Given the description of an element on the screen output the (x, y) to click on. 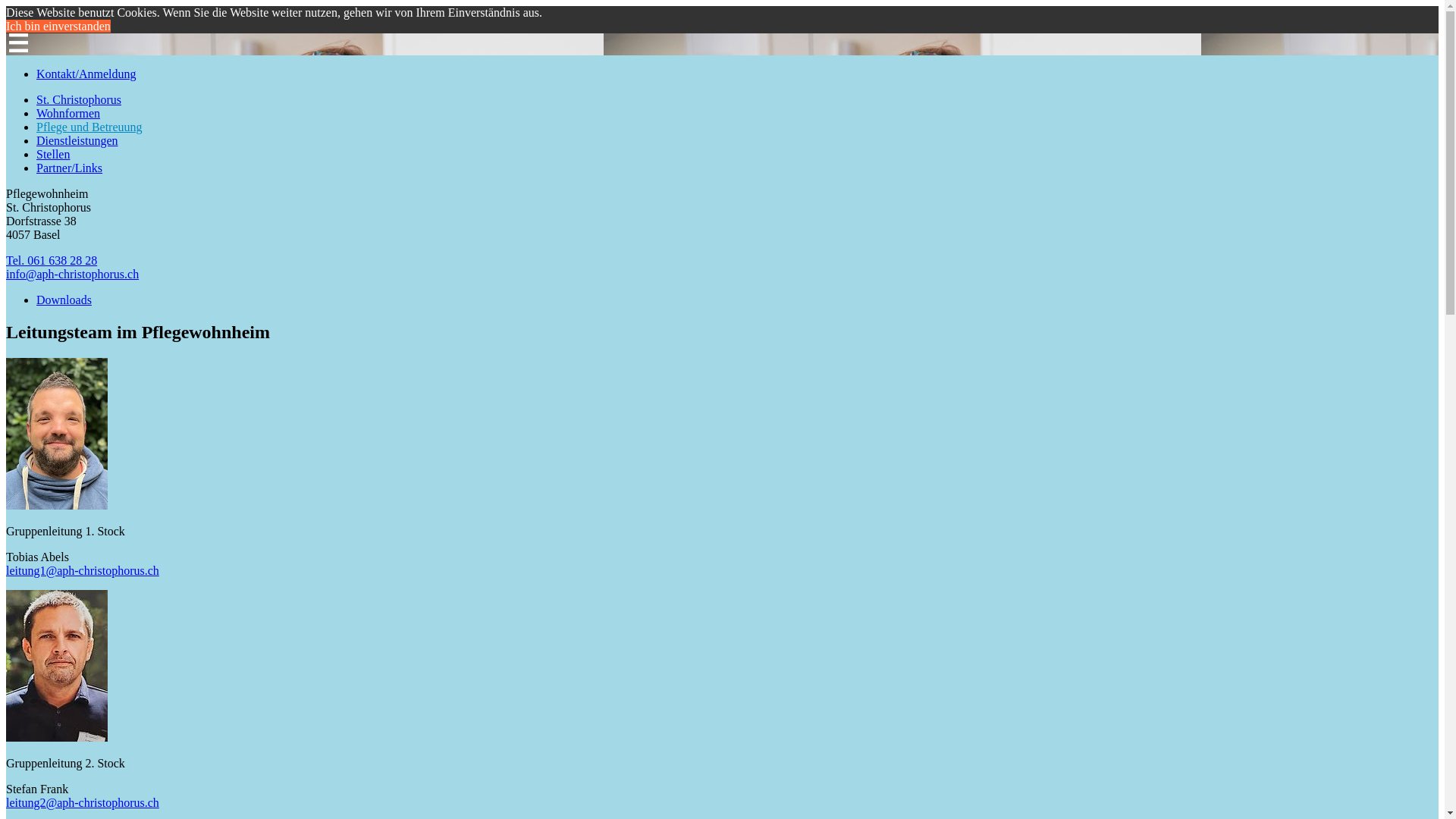
Kontakt/Anmeldung Element type: text (86, 73)
Partner/Links Element type: text (69, 167)
Dienstleistungen Element type: text (77, 140)
Pflege und Betreuung Element type: text (89, 126)
St. Christophorus Element type: text (78, 99)
leitung2@aph-christophorus.ch Element type: text (82, 802)
Tel. 061 638 28 28 Element type: text (51, 260)
info@aph-christophorus.ch Element type: text (72, 273)
Wohnformen Element type: text (68, 112)
leitung1@aph-christophorus.ch Element type: text (82, 570)
Stellen Element type: text (52, 153)
Downloads Element type: text (63, 299)
Ich bin einverstanden Element type: text (58, 25)
